Given the description of an element on the screen output the (x, y) to click on. 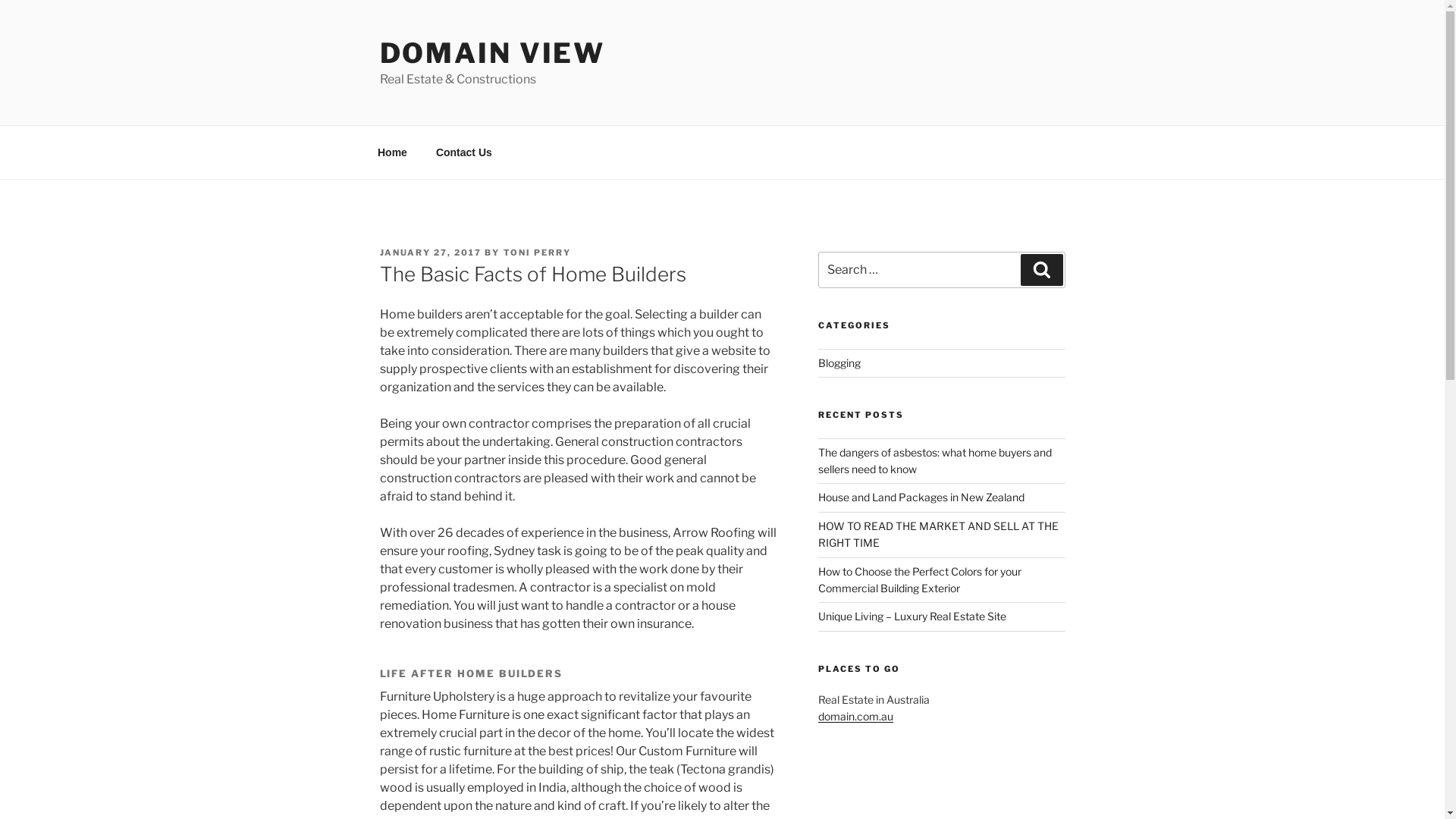
domain.com.au Element type: text (855, 715)
DOMAIN VIEW Element type: text (492, 52)
Blogging Element type: text (839, 362)
HOW TO READ THE MARKET AND SELL AT THE RIGHT TIME Element type: text (938, 534)
Contact Us Element type: text (463, 151)
TONI PERRY Element type: text (537, 252)
Home Element type: text (392, 151)
House and Land Packages in New Zealand Element type: text (921, 496)
Search Element type: text (1041, 269)
JANUARY 27, 2017 Element type: text (430, 252)
